Given the description of an element on the screen output the (x, y) to click on. 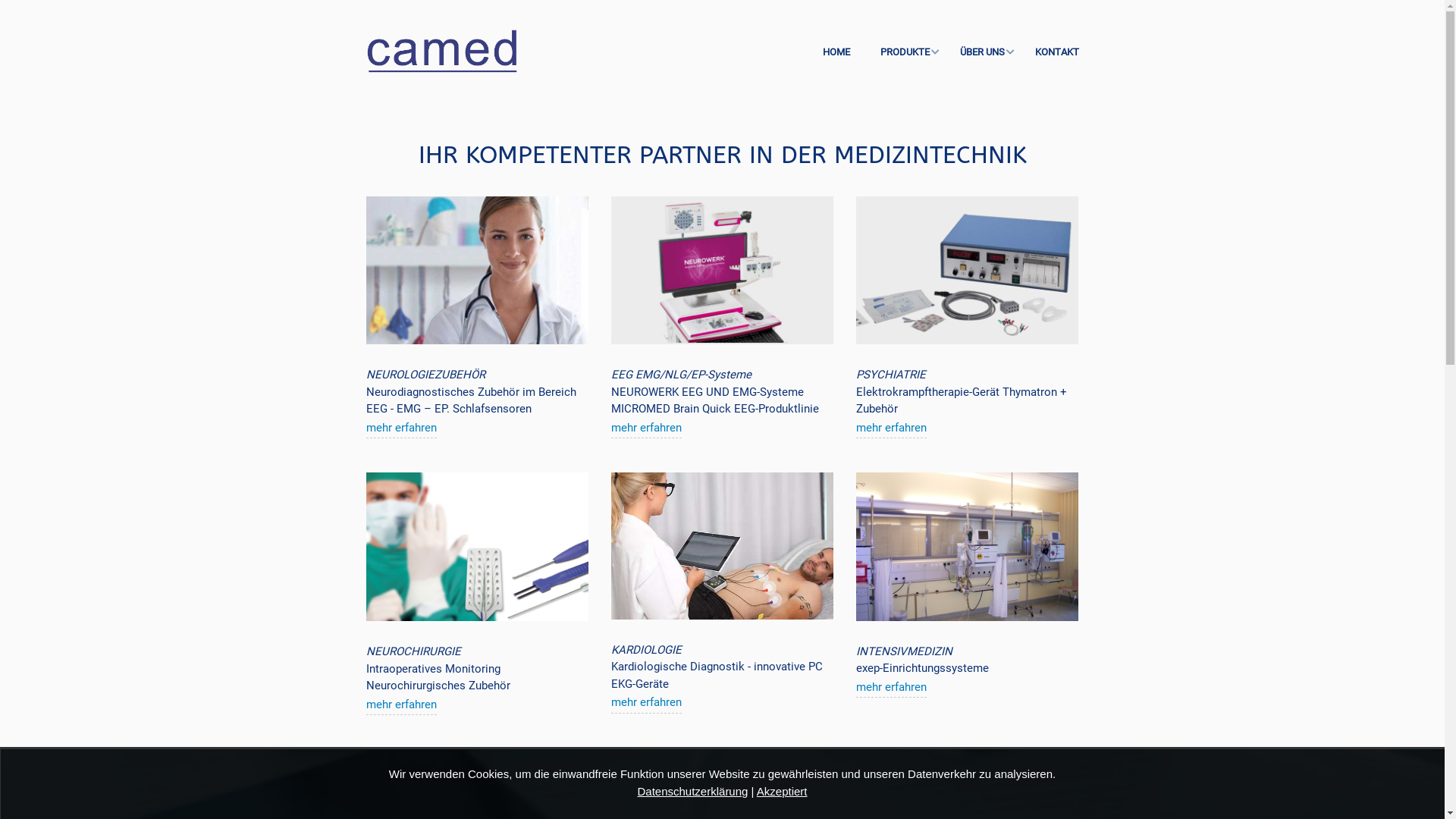
mehr erfahren Element type: text (646, 702)
Akzeptiert Element type: text (781, 790)
mehr erfahren Element type: text (400, 704)
KONTAKT Element type: text (1048, 51)
PRODUKTE Element type: text (904, 51)
mehr erfahren Element type: text (891, 428)
mehr erfahren Element type: text (891, 687)
mehr erfahren Element type: text (646, 428)
mehr erfahren Element type: text (400, 428)
HOME Element type: text (835, 51)
